Given the description of an element on the screen output the (x, y) to click on. 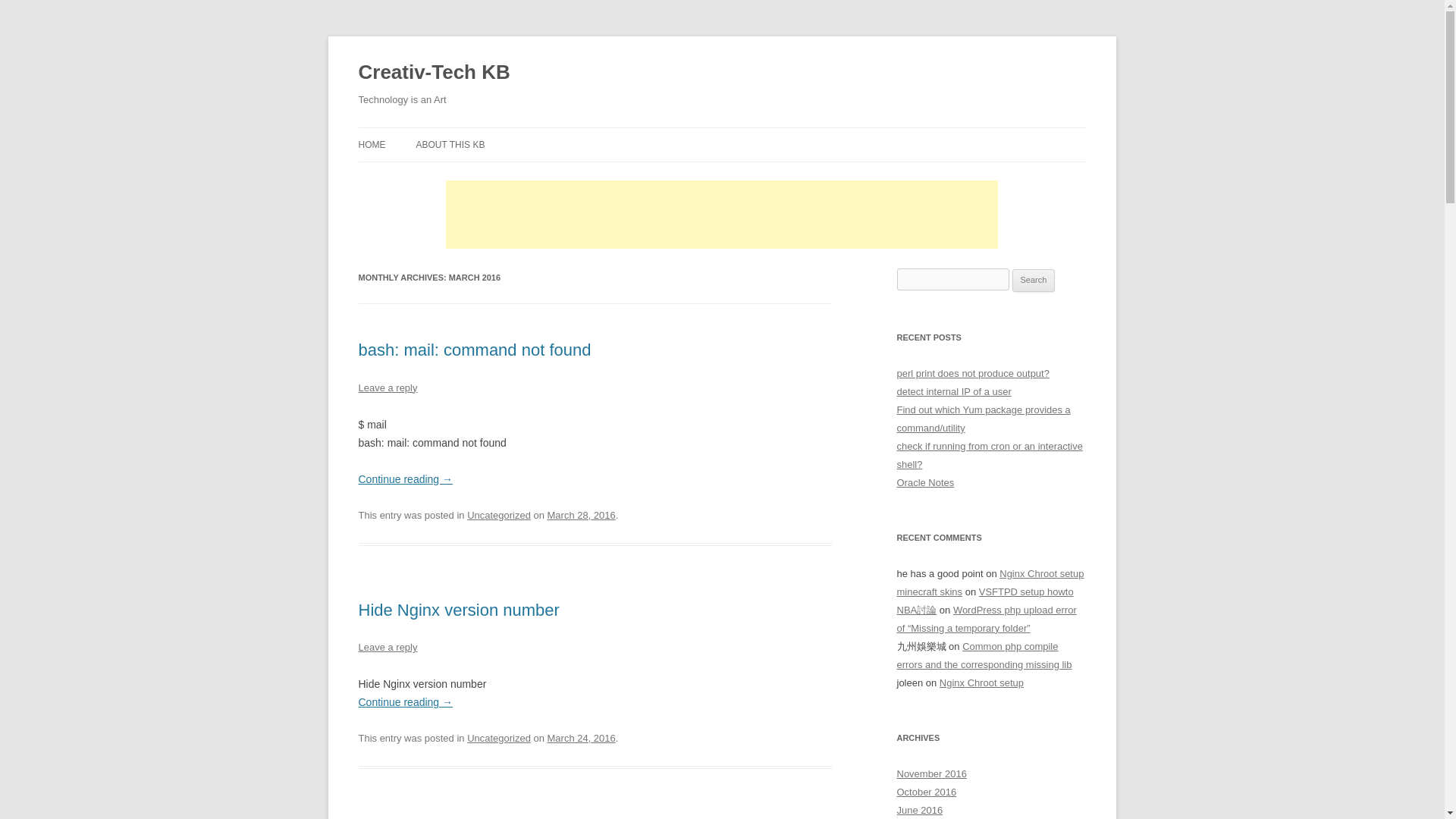
March 24, 2016 (581, 737)
6:58 pm (581, 737)
Uncategorized (499, 514)
Creativ-Tech KB (433, 72)
ABOUT THIS KB (449, 144)
4:21 am (581, 514)
Advertisement (721, 214)
bash: mail: command not found (474, 349)
March 28, 2016 (581, 514)
Creativ-Tech KB (433, 72)
Hide Nginx version number (458, 609)
Leave a reply (387, 387)
Uncategorized (499, 737)
